Given the description of an element on the screen output the (x, y) to click on. 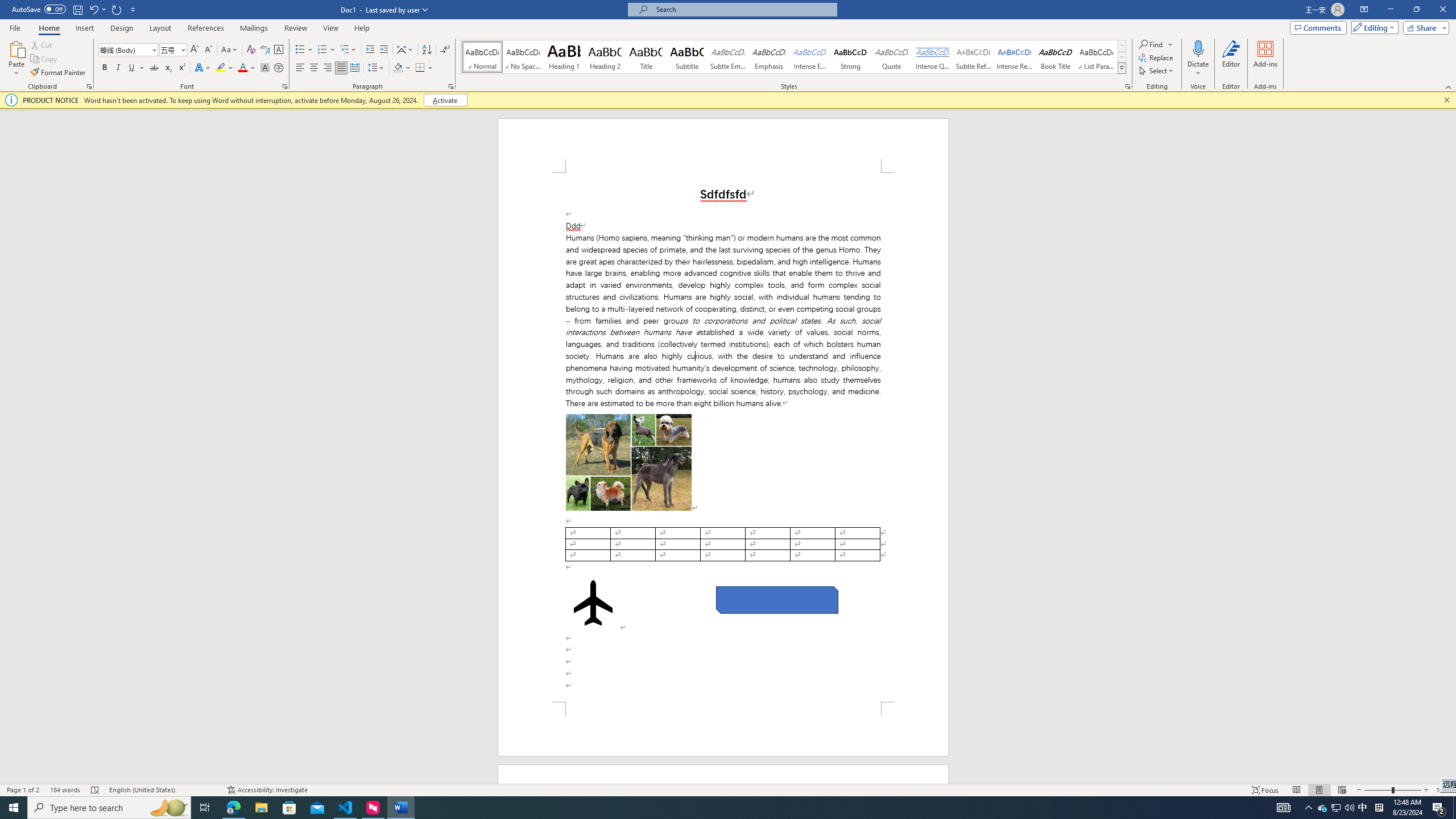
Book Title (1055, 56)
Close this message (1446, 99)
Activate (445, 100)
